Given the description of an element on the screen output the (x, y) to click on. 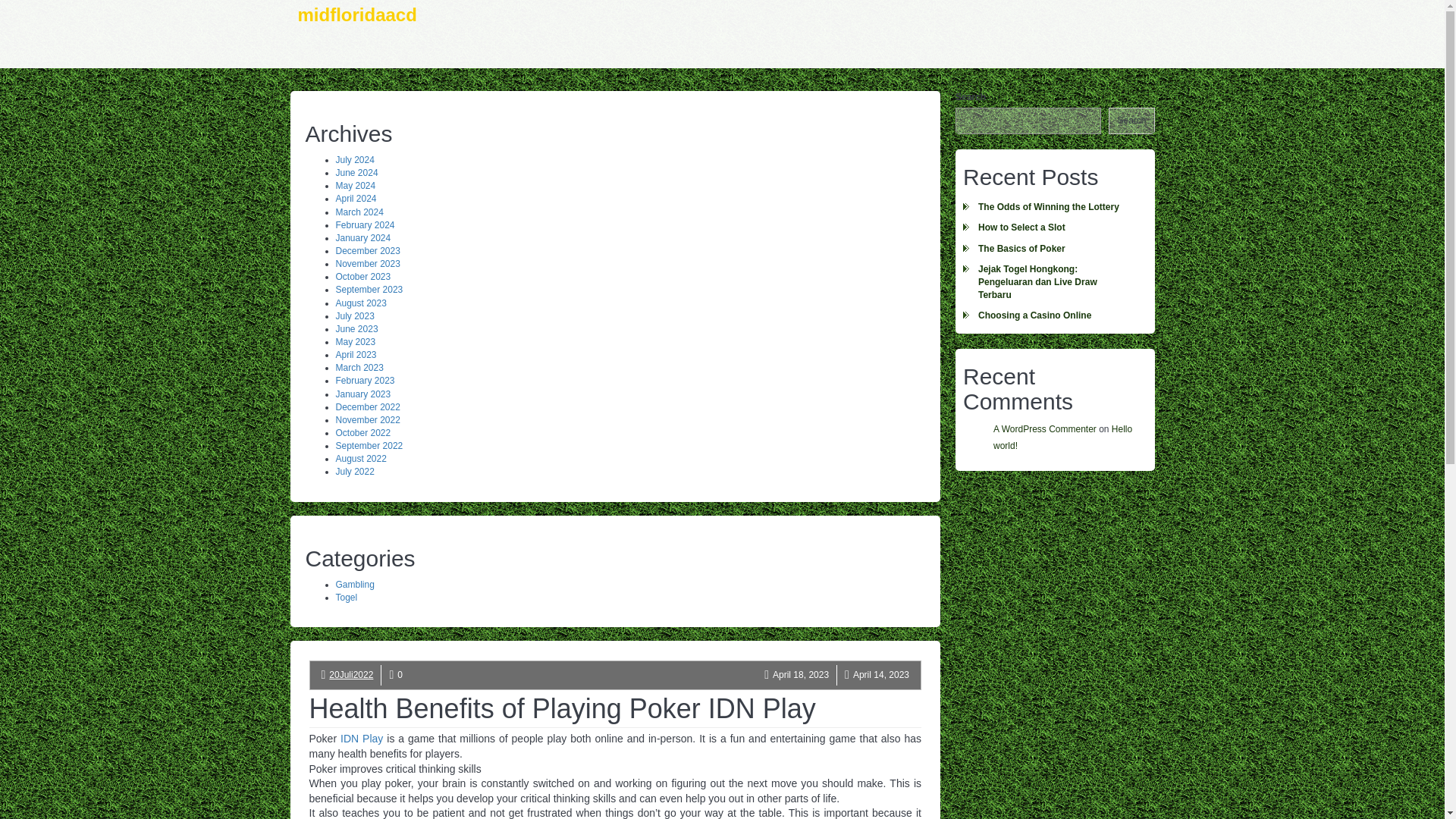
May 2024 (354, 185)
April 2024 (354, 198)
July 2023 (354, 316)
February 2023 (364, 380)
June 2024 (355, 172)
December 2023 (366, 250)
February 2024 (364, 225)
IDN Play (361, 738)
Togel (345, 597)
How to Select a Slot (1054, 227)
The Odds of Winning the Lottery (1054, 207)
November 2022 (366, 419)
Choosing a Casino Online (1054, 315)
September 2022 (368, 445)
September 2023 (368, 289)
